Given the description of an element on the screen output the (x, y) to click on. 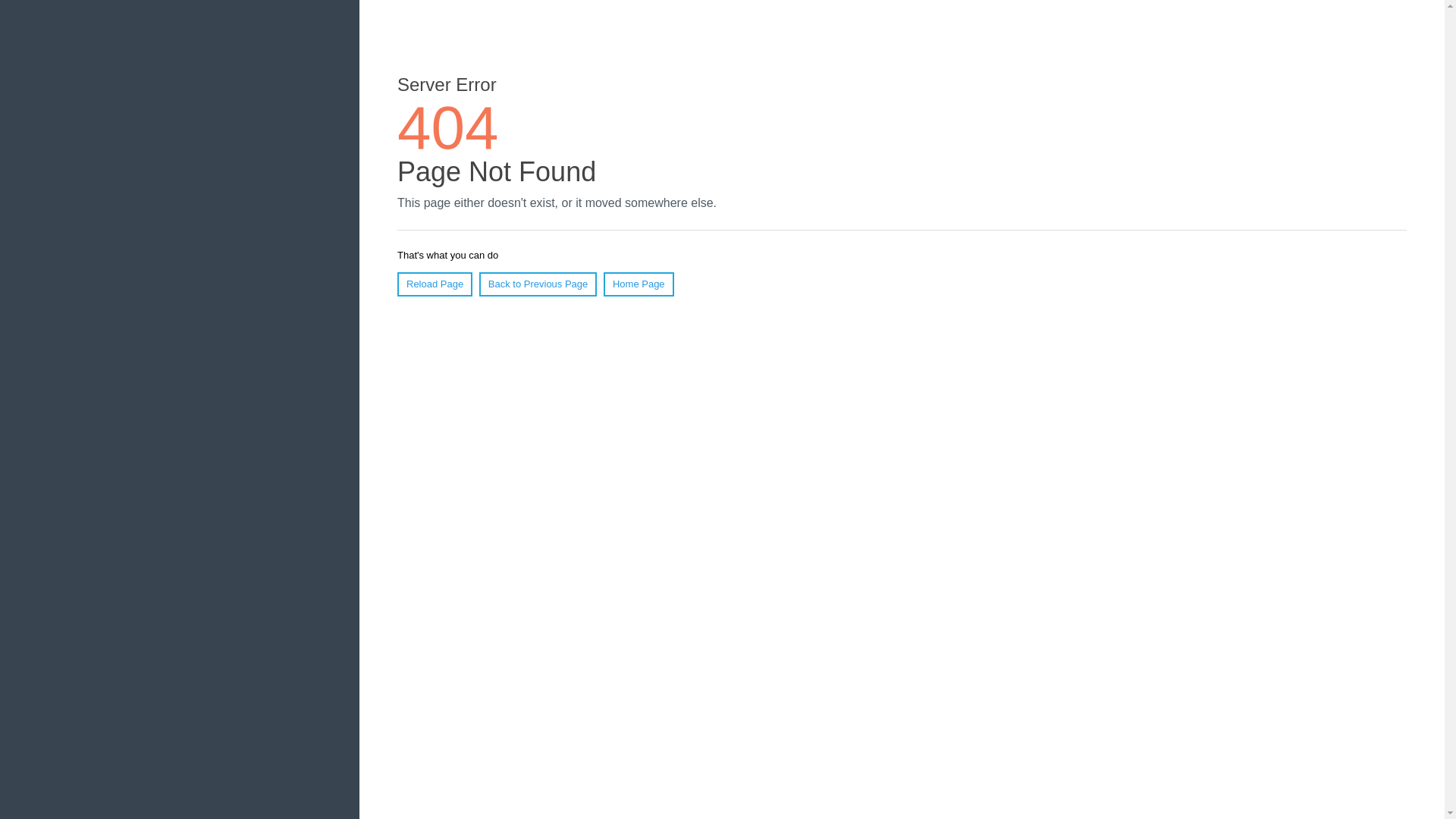
Home Page (639, 283)
Reload Page (434, 283)
Back to Previous Page (537, 283)
